Given the description of an element on the screen output the (x, y) to click on. 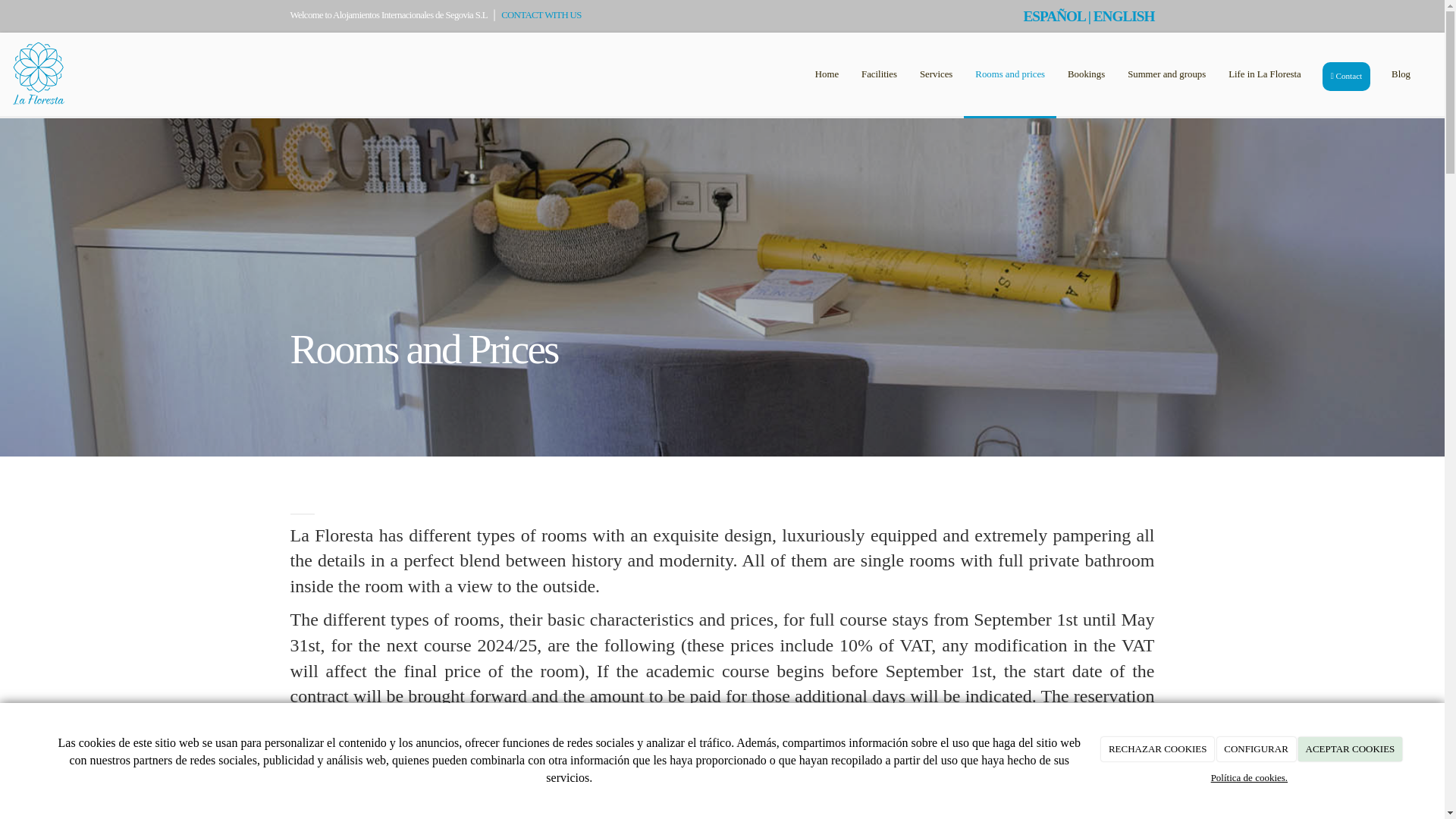
Life in La Floresta (1265, 74)
Summer and groups (1166, 74)
Contact (1346, 76)
logo (38, 74)
ENGLISH (1123, 16)
Rooms and prices (1010, 74)
CONTACT WITH US (540, 14)
